Given the description of an element on the screen output the (x, y) to click on. 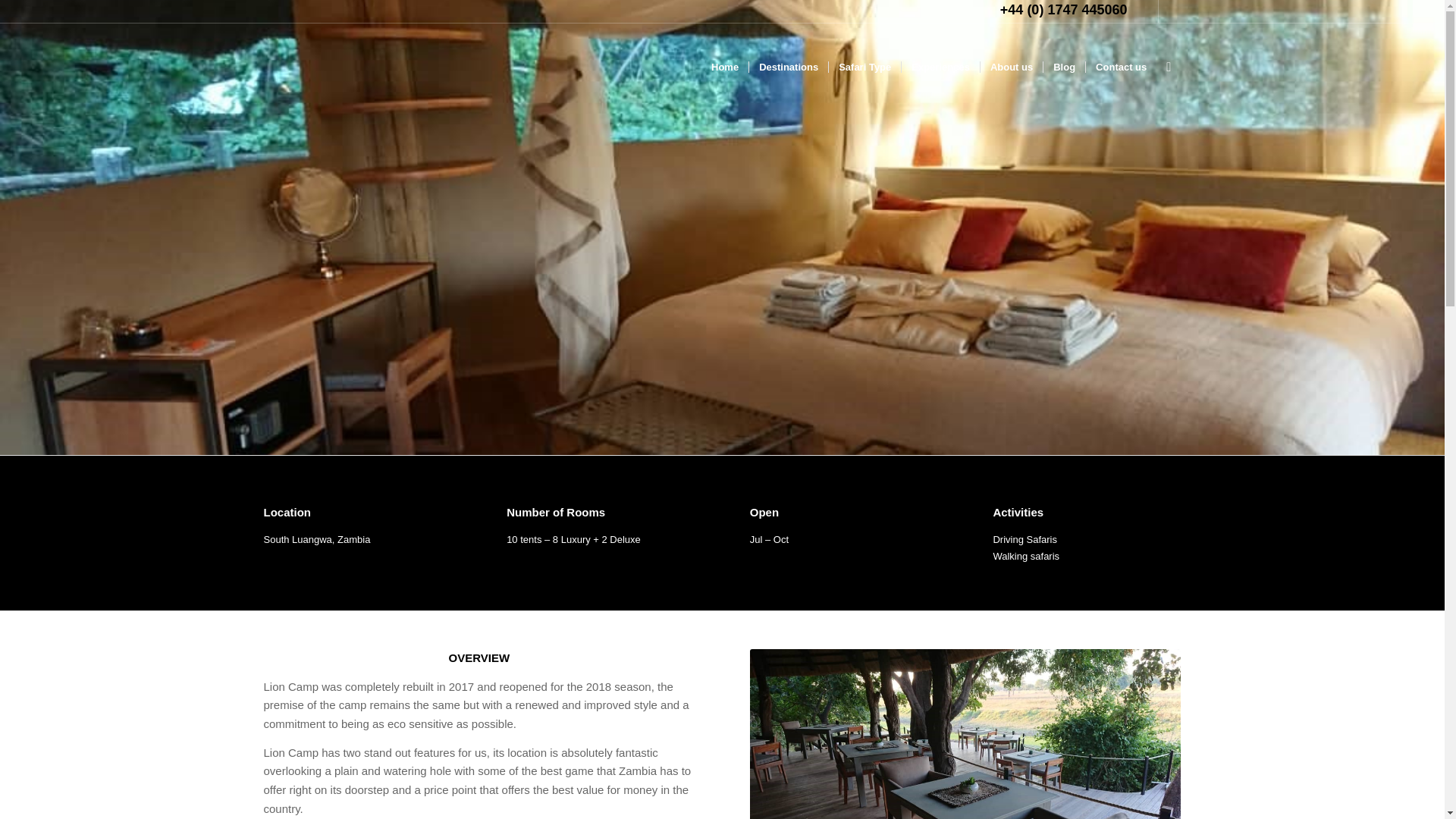
Twitter (1146, 11)
Facebook (1169, 11)
Dining Area (964, 734)
Destinations (788, 67)
